Given the description of an element on the screen output the (x, y) to click on. 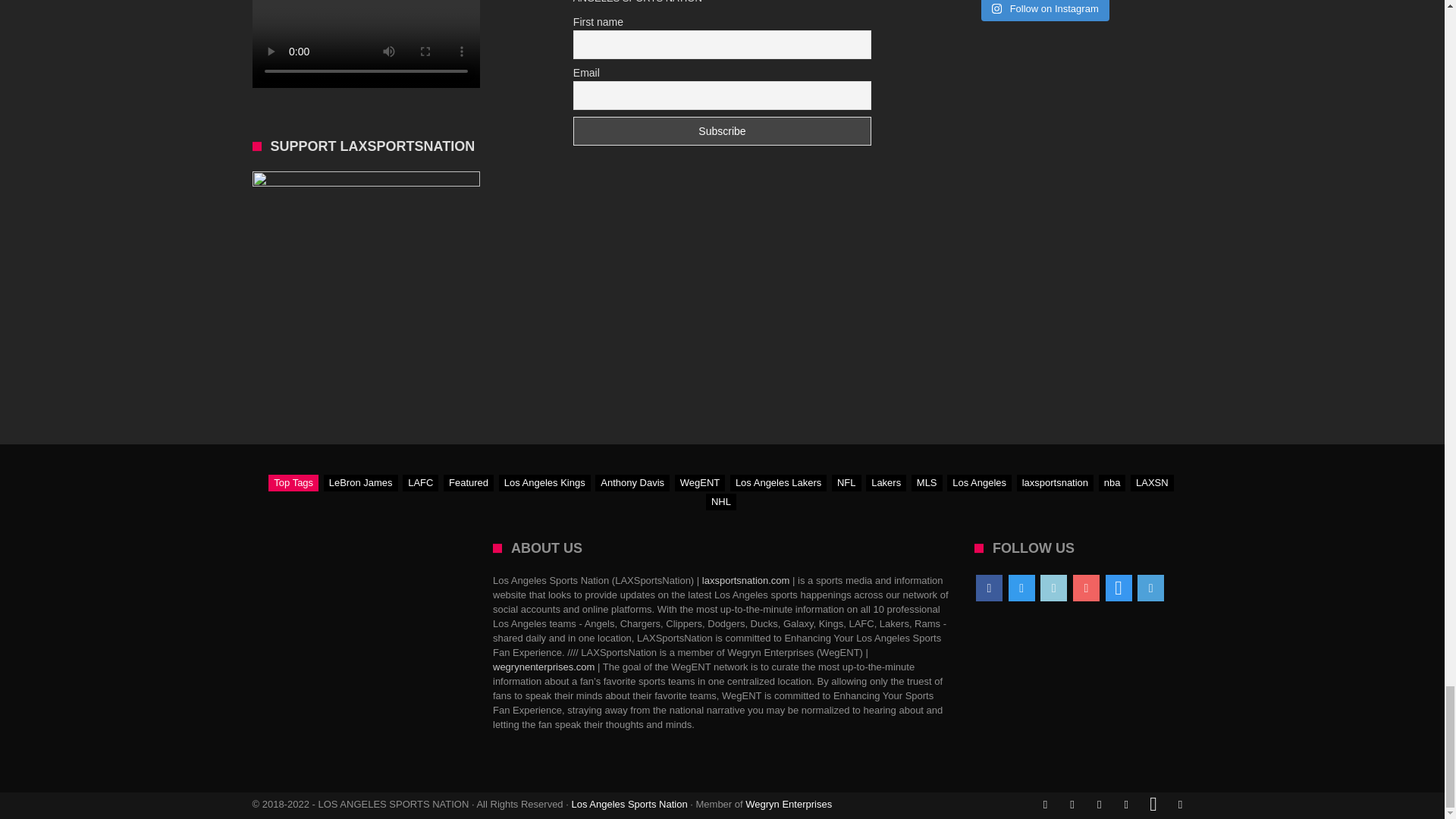
Subscribe (721, 131)
